Given the description of an element on the screen output the (x, y) to click on. 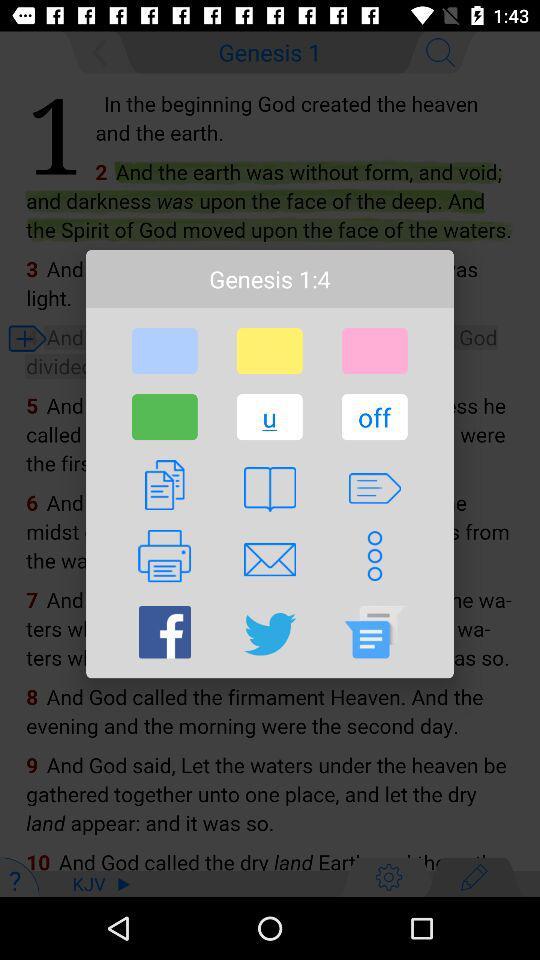
turn on the icon next to u icon (374, 417)
